Given the description of an element on the screen output the (x, y) to click on. 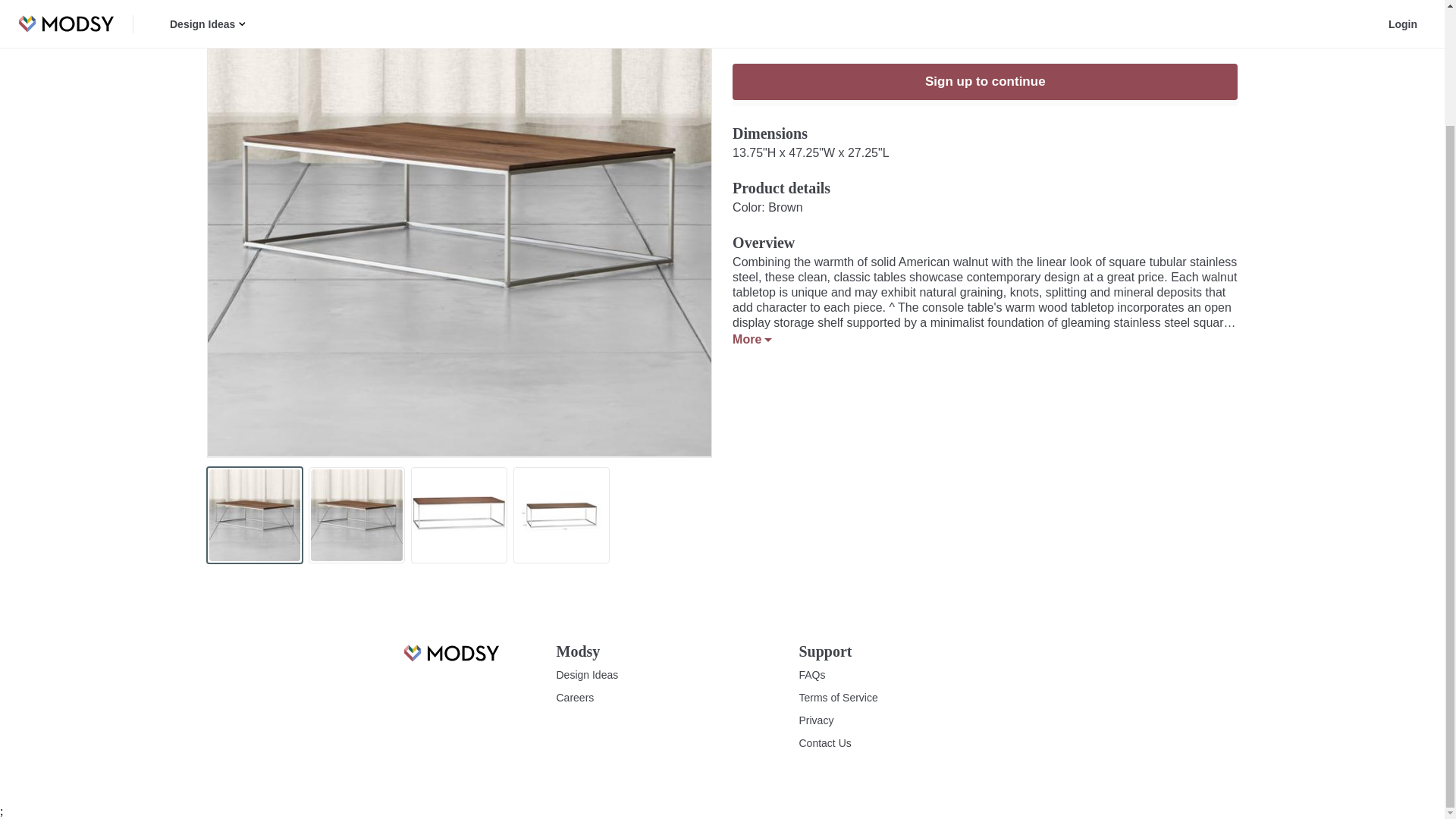
Design Ideas (587, 674)
More (751, 339)
Privacy (816, 720)
Sign up to continue (984, 81)
Go to modsy homepageLogo to redirect to modsy homepage (451, 653)
Go to modsy homepageLogo to redirect to modsy homepage (451, 660)
Contact Us (825, 743)
Careers (575, 697)
FAQs (812, 674)
Terms of Service (838, 697)
